Given the description of an element on the screen output the (x, y) to click on. 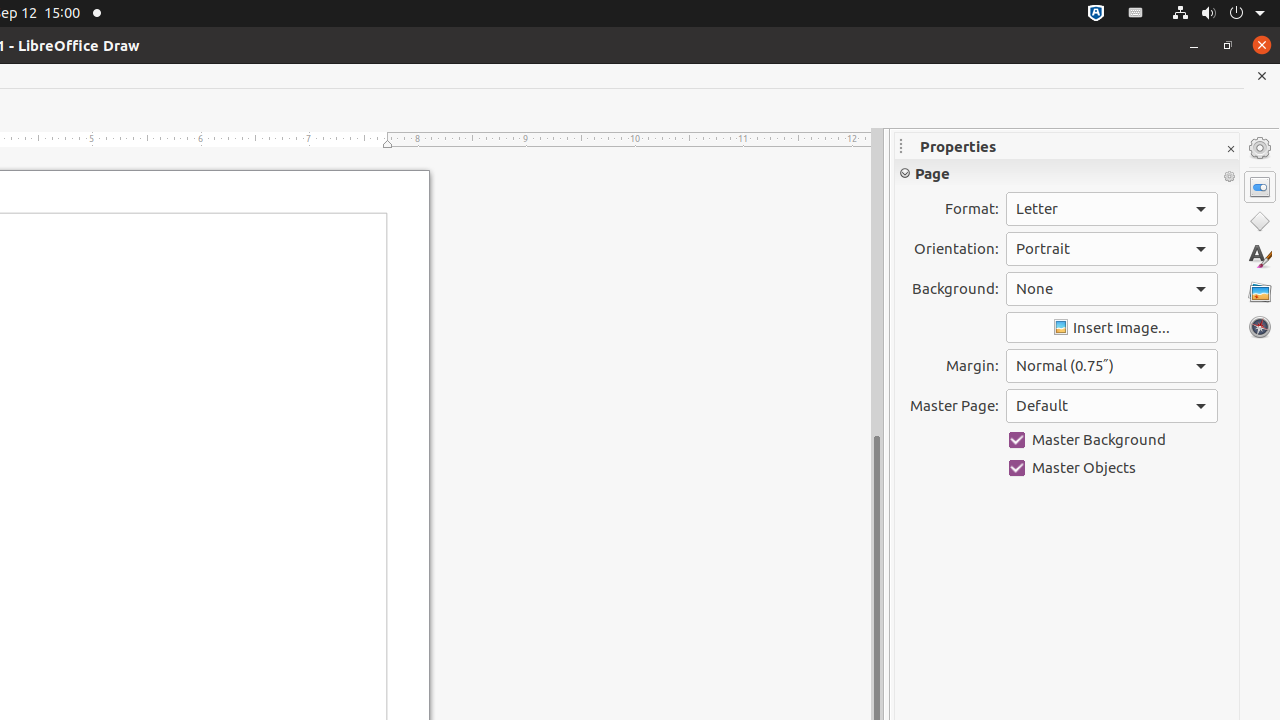
Gallery Element type: radio-button (1260, 292)
Orientation: Element type: combo-box (1112, 249)
More Options Element type: push-button (1229, 177)
System Element type: menu (1218, 13)
Background: Element type: combo-box (1112, 289)
